Given the description of an element on the screen output the (x, y) to click on. 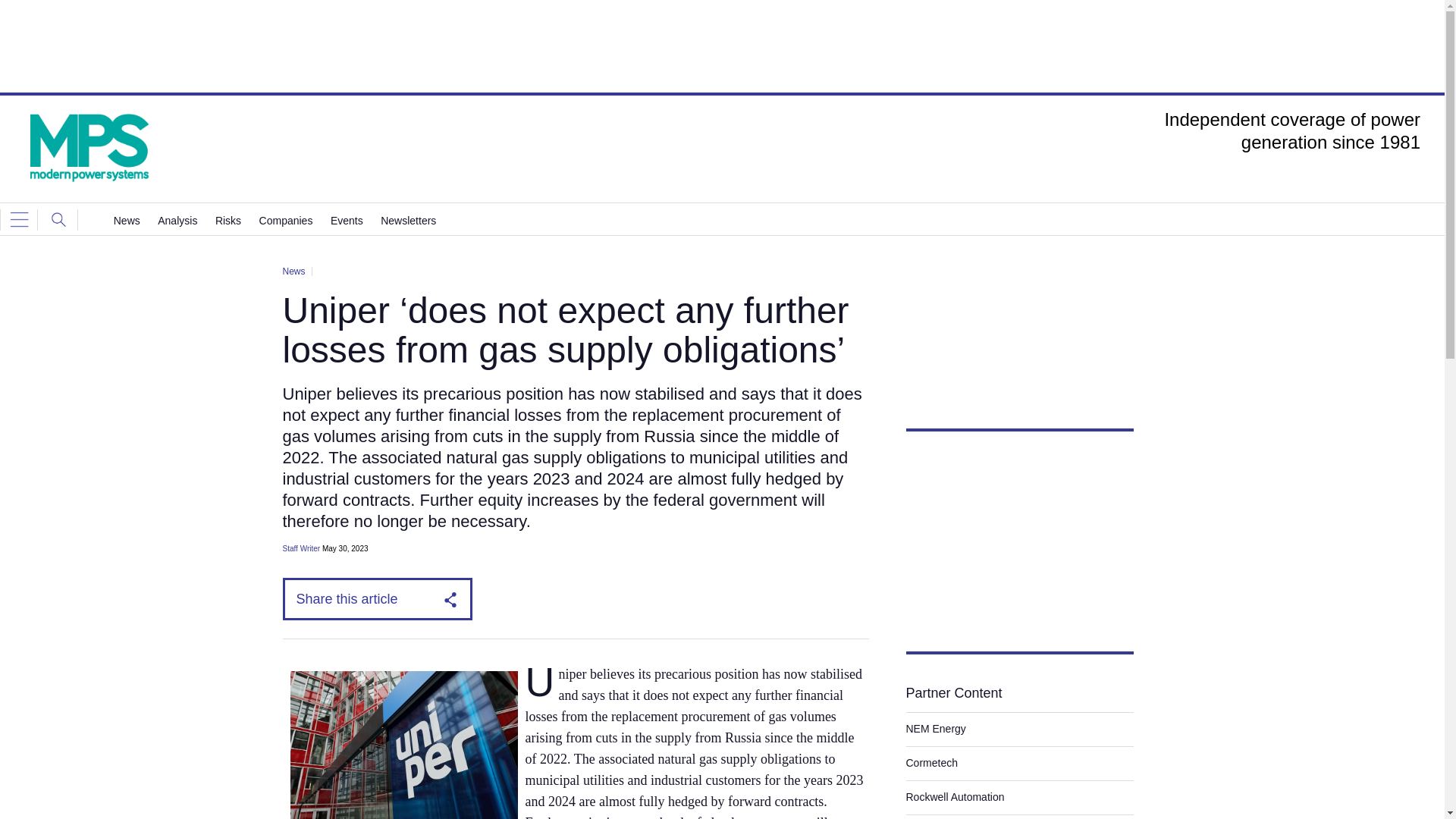
Analysis (176, 220)
Companies (286, 220)
3rd party ad content (721, 46)
